Given the description of an element on the screen output the (x, y) to click on. 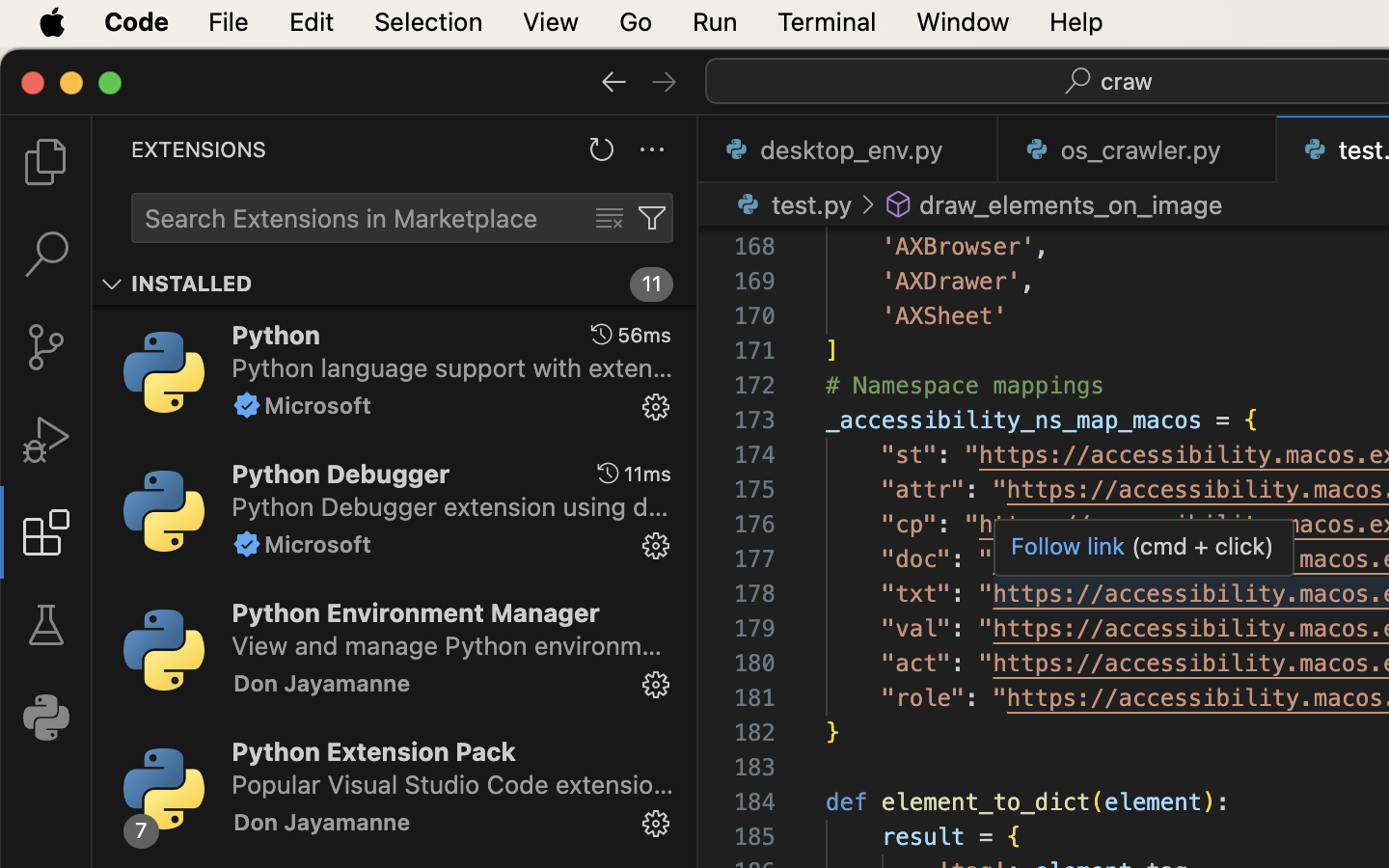
 Element type: AXButton (609, 217)
Python Debugger extension using debugpy. Element type: AXStaticText (450, 505)
Python language support with extension access points for IntelliSense (Pylance), Debugging (Python Debugger), linting, formatting, refactoring, unit tests, and more. Element type: AXStaticText (452, 366)
0 desktop_env.py   Element type: AXRadioButton (848, 149)
